Given the description of an element on the screen output the (x, y) to click on. 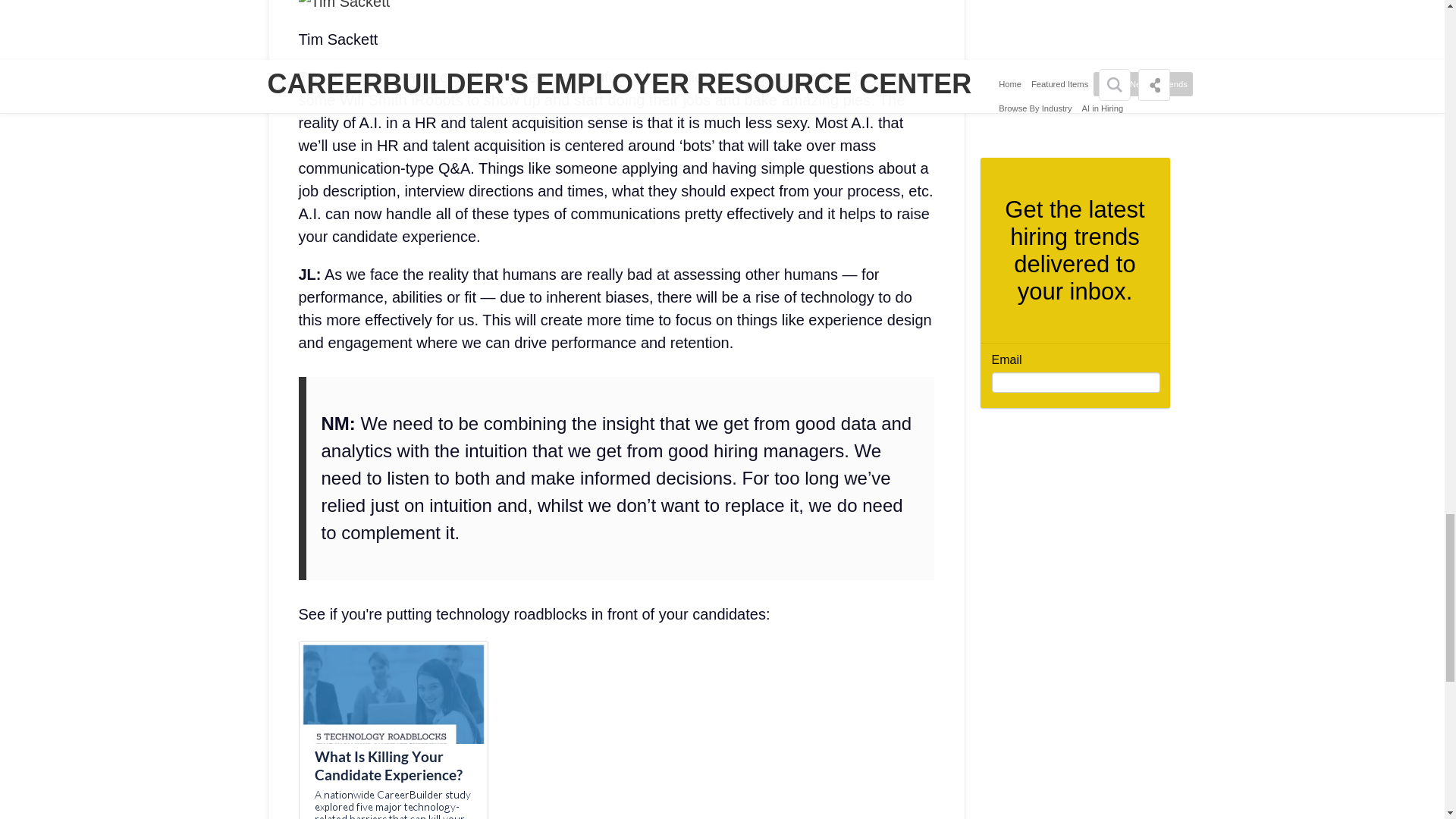
What Is Killing Your Candidate Experience? (392, 764)
